Given the description of an element on the screen output the (x, y) to click on. 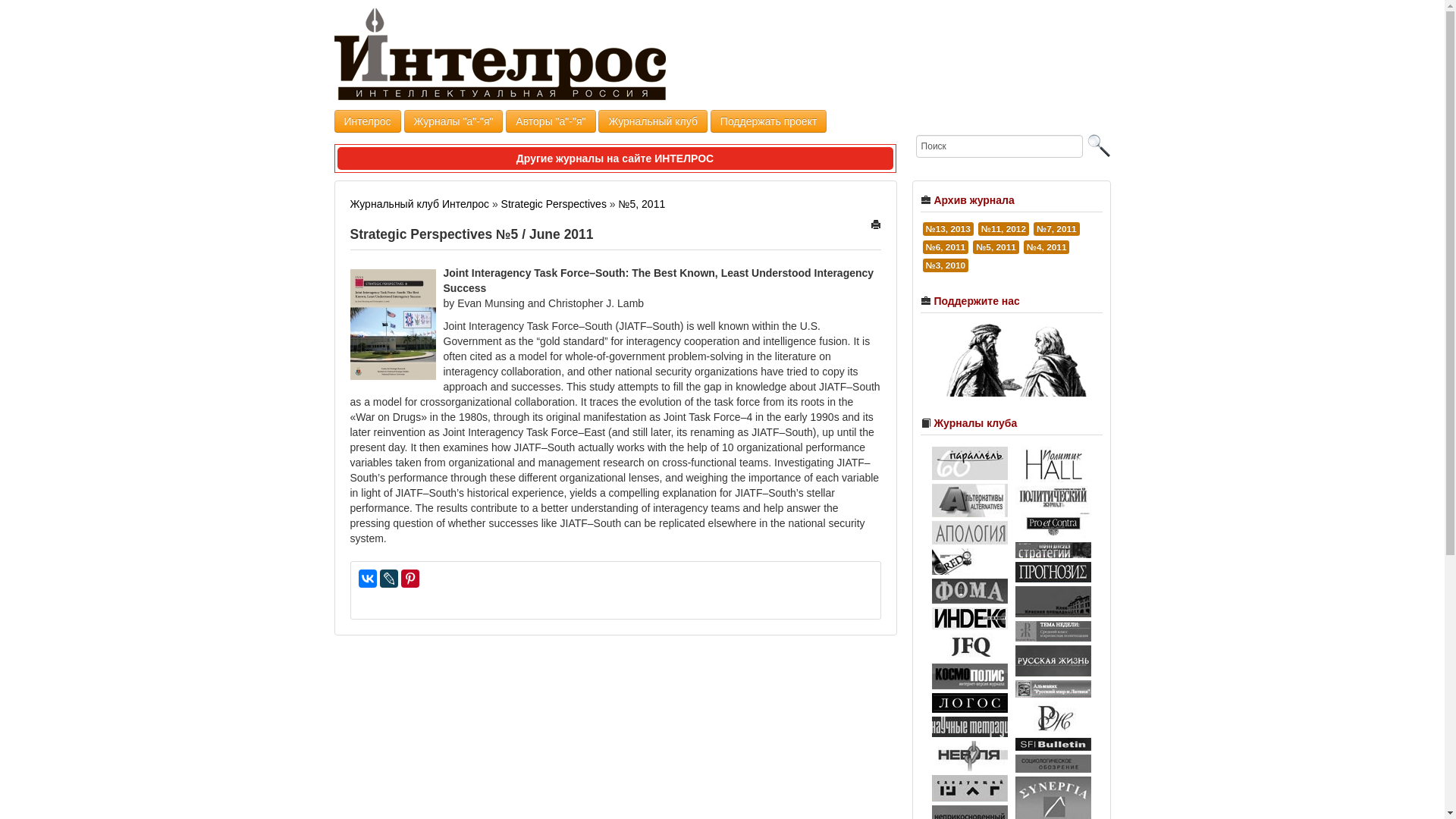
Strategic Perspectives (553, 203)
Pinterest (409, 578)
LiveJournal (387, 578)
